Given the description of an element on the screen output the (x, y) to click on. 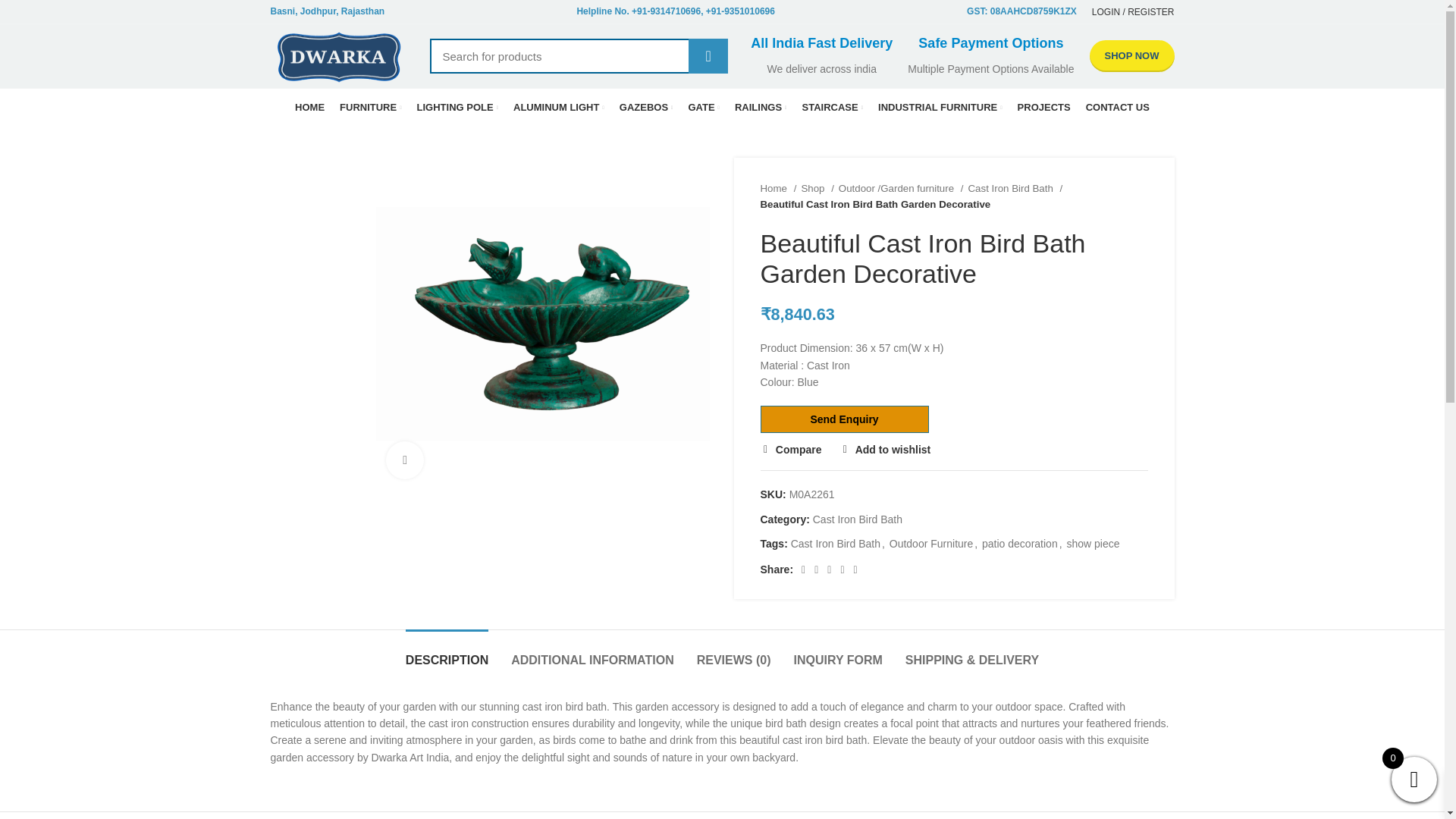
ALUMINUM LIGHT (558, 107)
SHOP NOW (1131, 56)
Search for products (578, 55)
Birdbath 1 (542, 324)
FURNITURE (370, 107)
LIGHTING POLE (457, 107)
GAZEBOS (646, 107)
HOME (308, 107)
Log in (1049, 235)
My account (1133, 13)
